Given the description of an element on the screen output the (x, y) to click on. 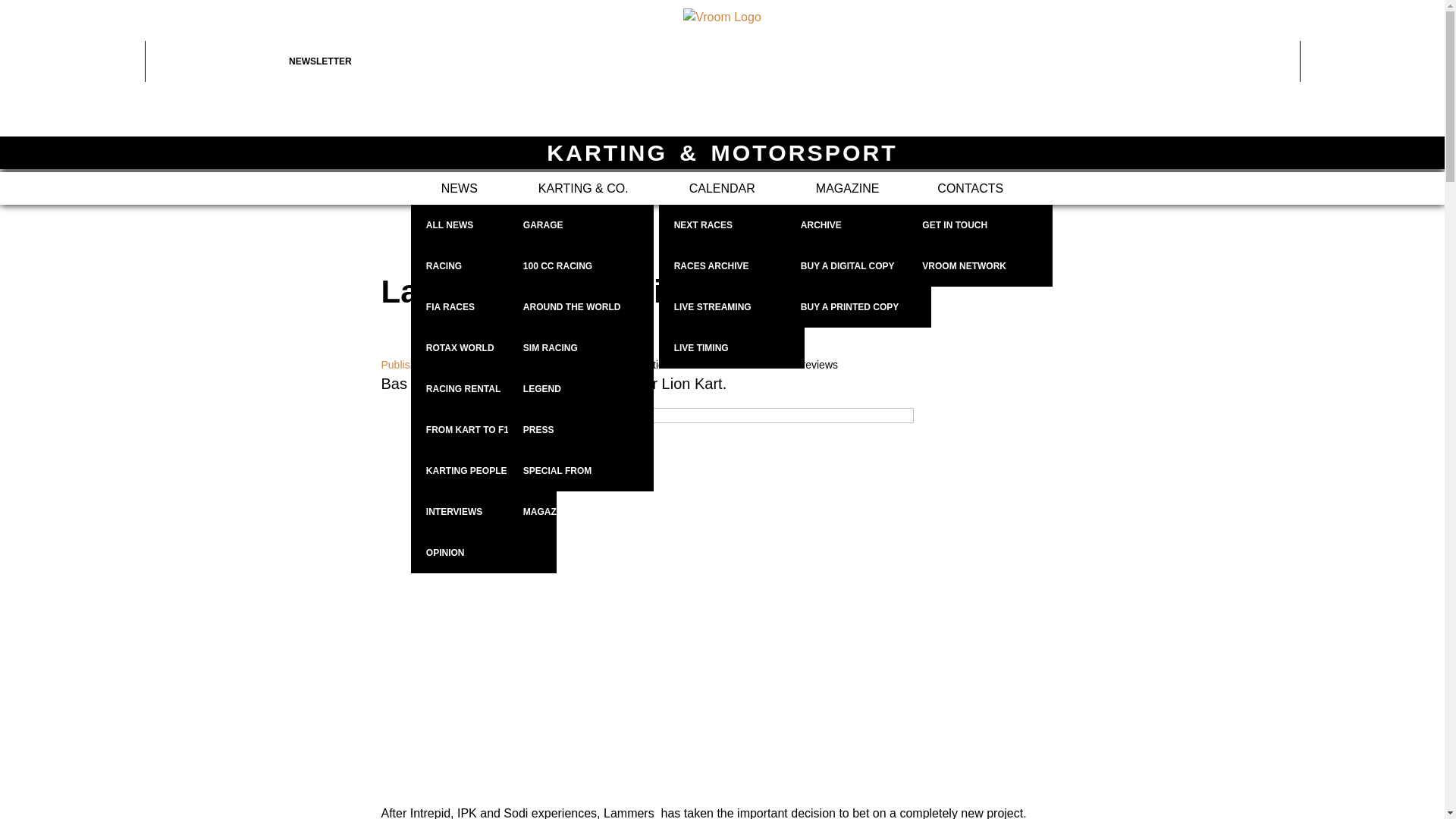
AROUND THE WORLD (580, 306)
RACING (483, 265)
KARTING PEOPLE (483, 470)
FROM KART TO F1 (483, 429)
GARAGE (580, 224)
BUY A PRINTED COPY (858, 306)
LIVE STREAMING (732, 306)
CALENDAR (722, 187)
FIA RACES (483, 306)
ALL NEWS (483, 224)
RACING RENTAL (483, 388)
INTERVIEWS (483, 511)
LEGEND (580, 388)
NEWSLETTER (360, 60)
